Given the description of an element on the screen output the (x, y) to click on. 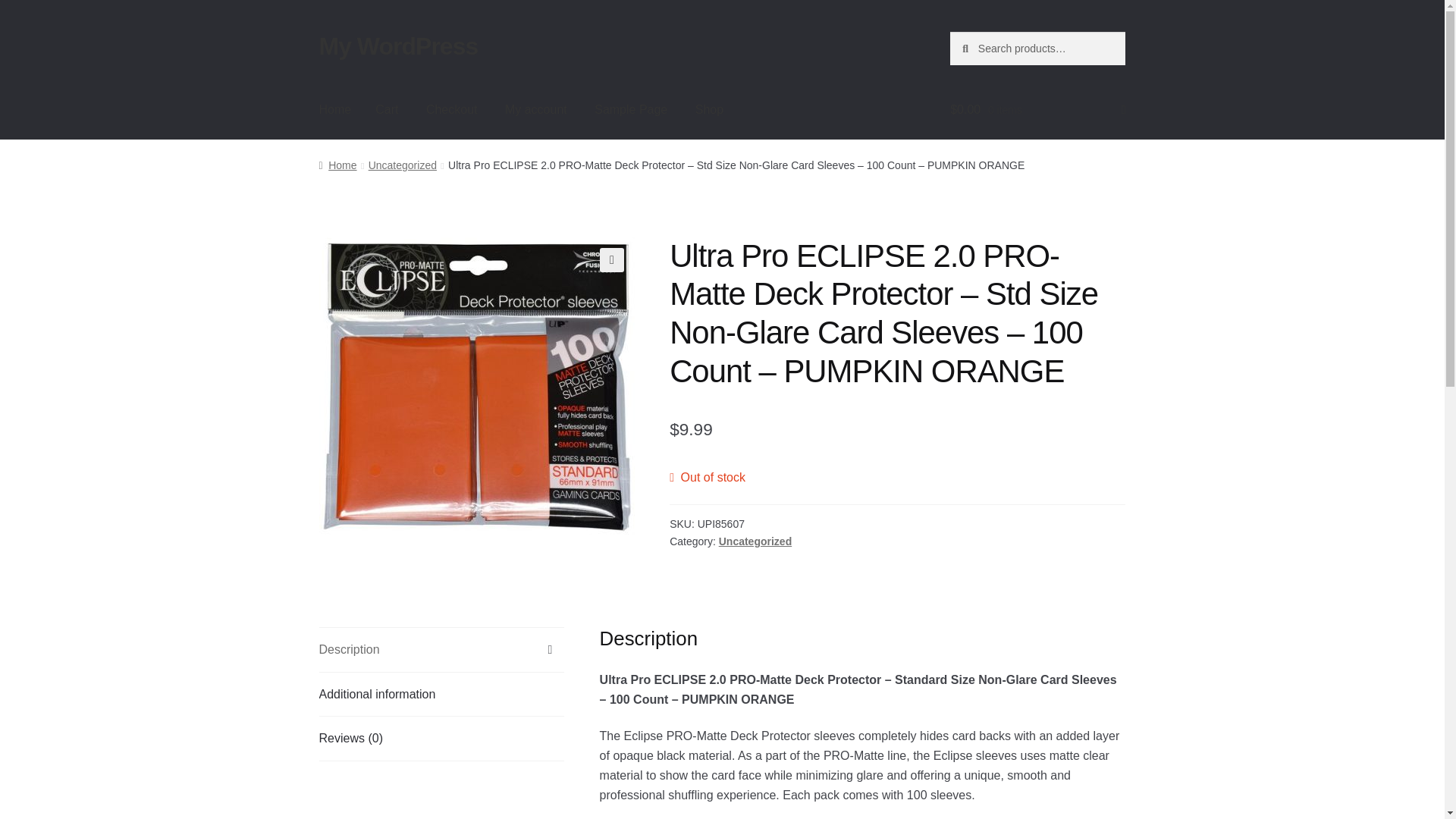
My WordPress (398, 45)
Home (337, 164)
Checkout (451, 109)
Additional information (441, 694)
View your shopping cart (1037, 109)
Uncategorized (402, 164)
My account (536, 109)
Uncategorized (755, 541)
Home (335, 109)
Sample Page (630, 109)
Description (441, 649)
